Given the description of an element on the screen output the (x, y) to click on. 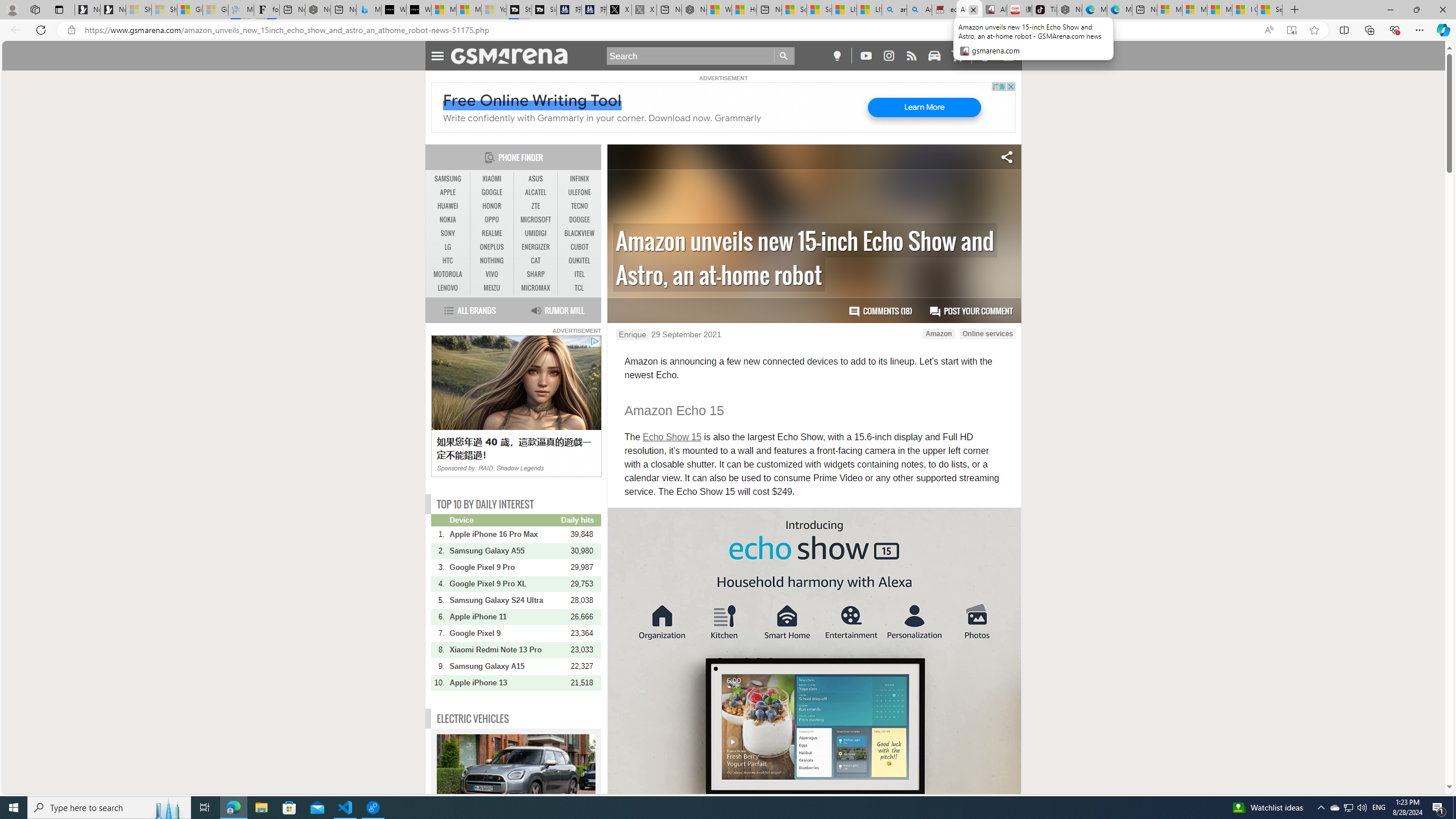
TCL (579, 287)
Enter Immersive Reader (F9) (1291, 29)
CUBOT (579, 246)
SHARP (535, 273)
Apple iPhone 11 (504, 616)
HONOR (491, 205)
ZTE (535, 206)
ASUS (535, 178)
